Given the description of an element on the screen output the (x, y) to click on. 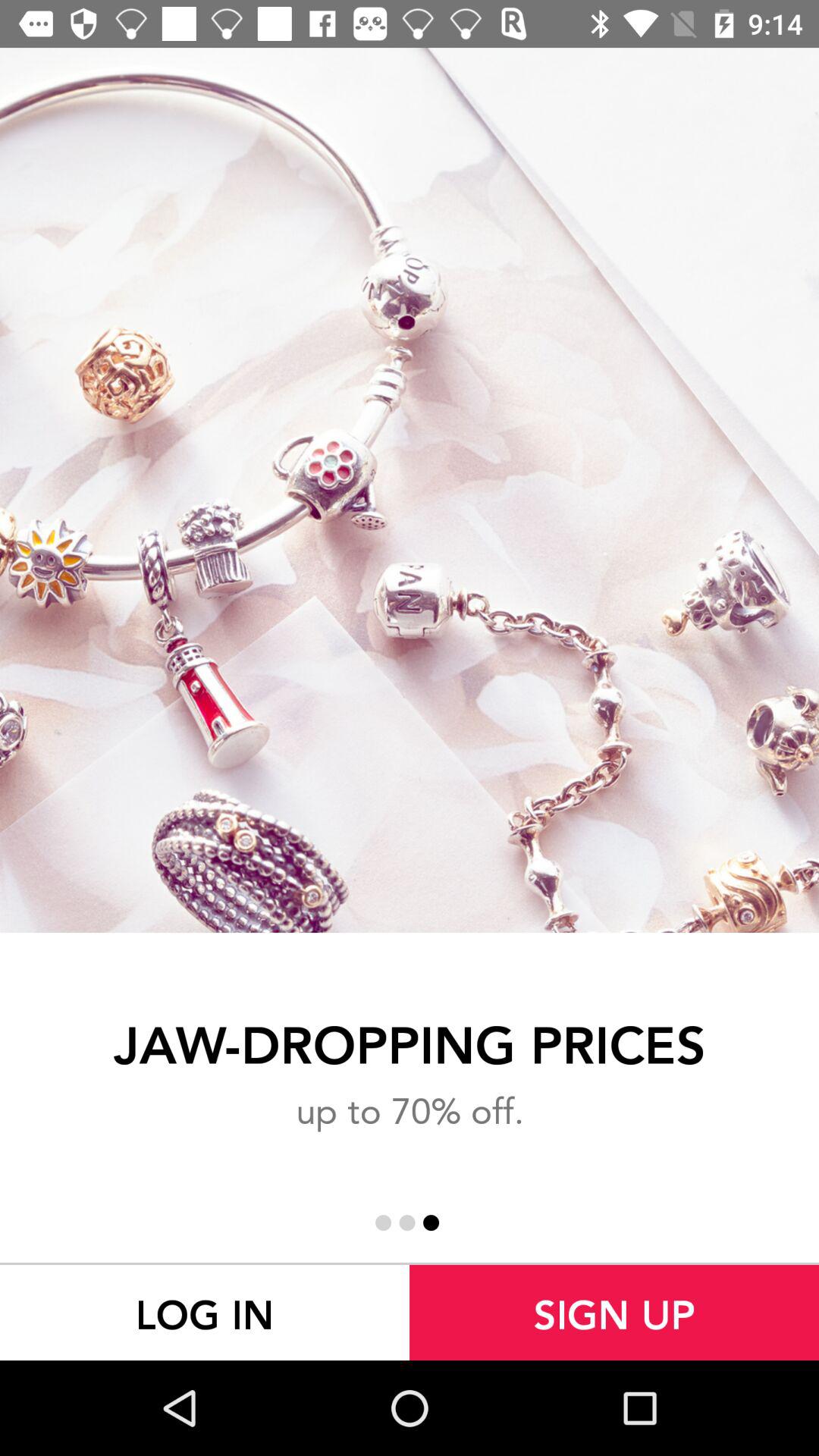
turn on the icon to the right of log in item (614, 1312)
